Given the description of an element on the screen output the (x, y) to click on. 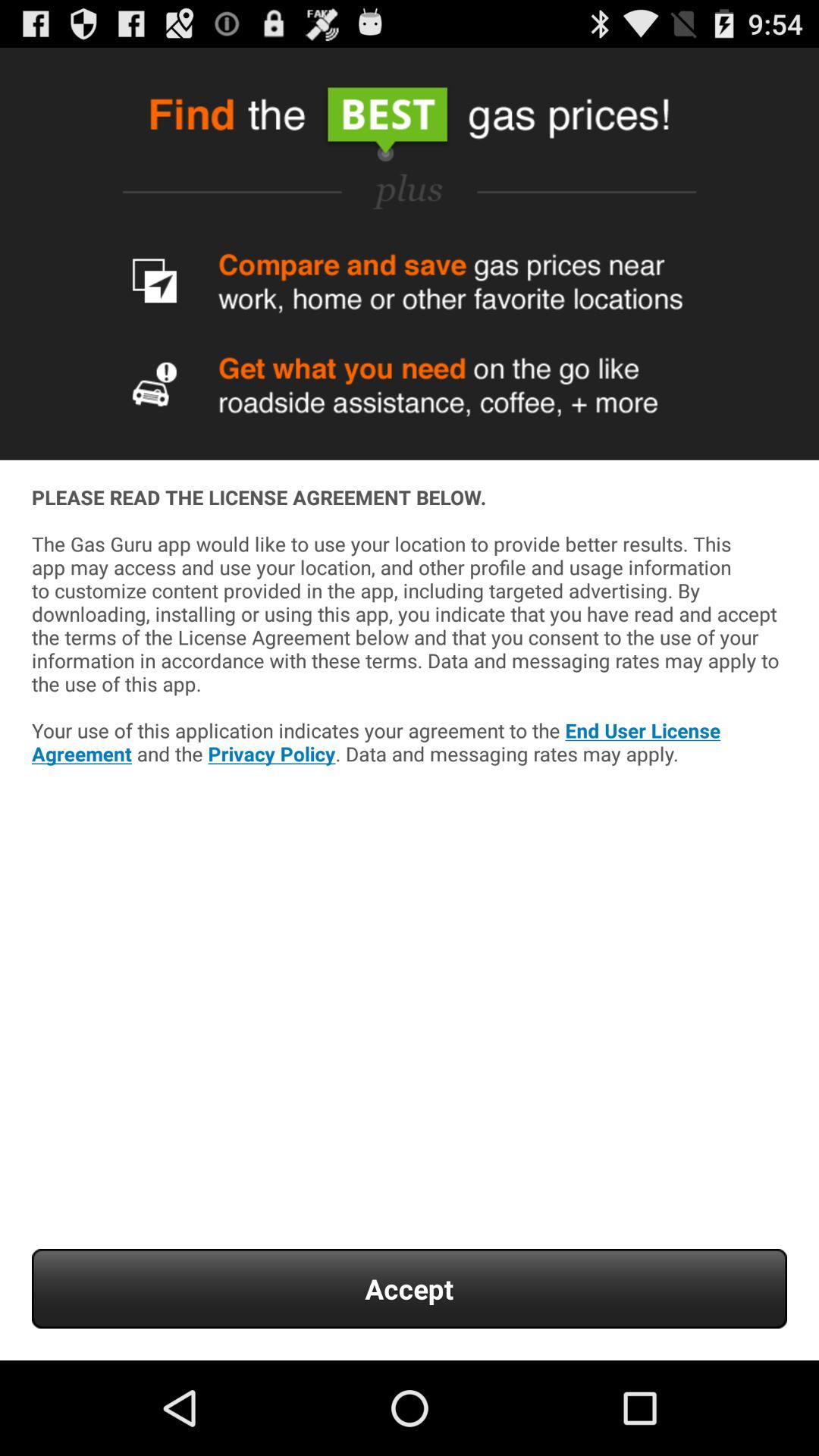
select the please read the (409, 669)
